Given the description of an element on the screen output the (x, y) to click on. 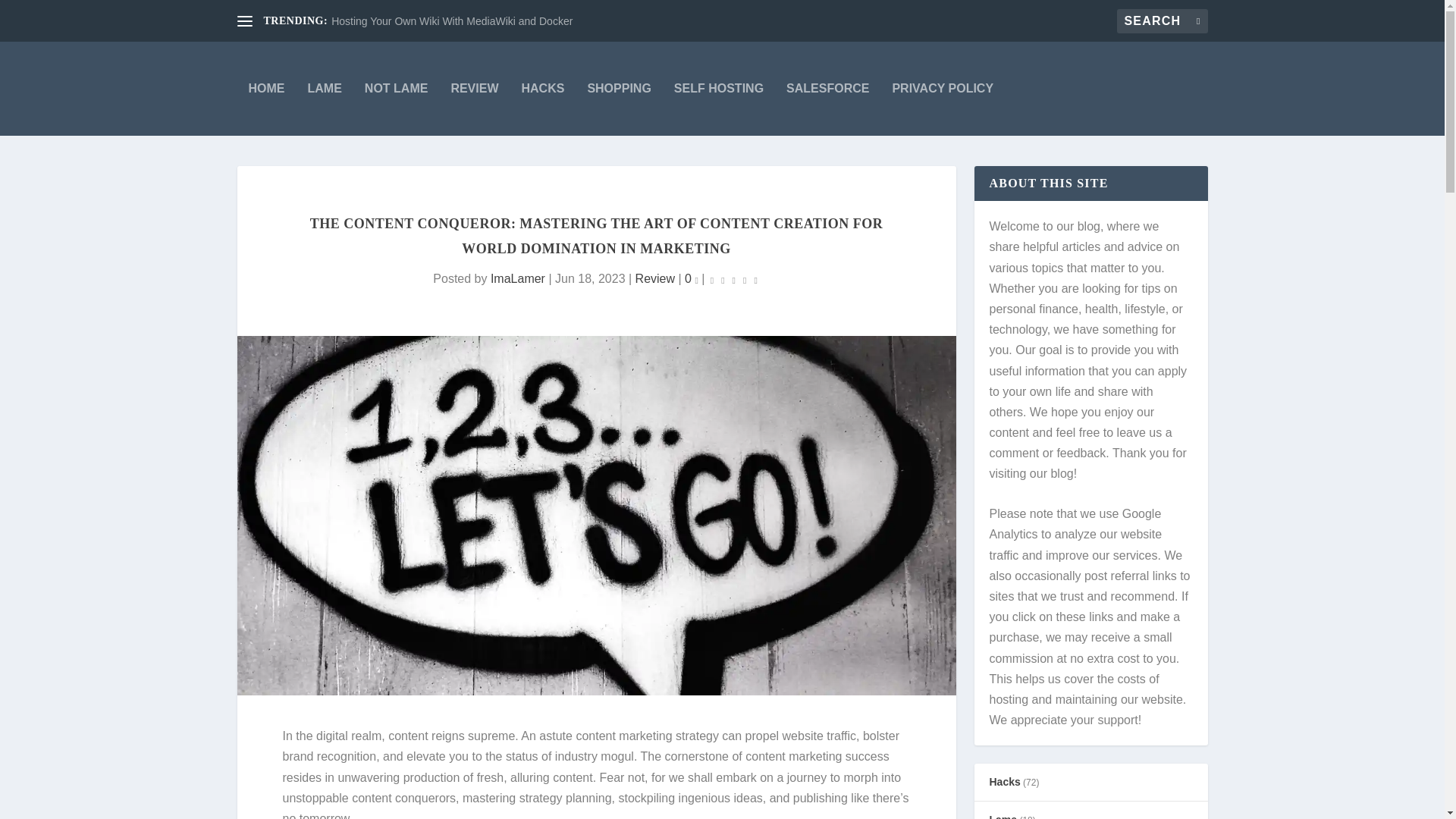
Hosting Your Own Wiki With MediaWiki and Docker (451, 21)
Search for: (1161, 21)
SELF HOSTING (718, 88)
Posts by ImaLamer (517, 278)
Rating: 0.00 (733, 279)
PRIVACY POLICY (941, 88)
